Given the description of an element on the screen output the (x, y) to click on. 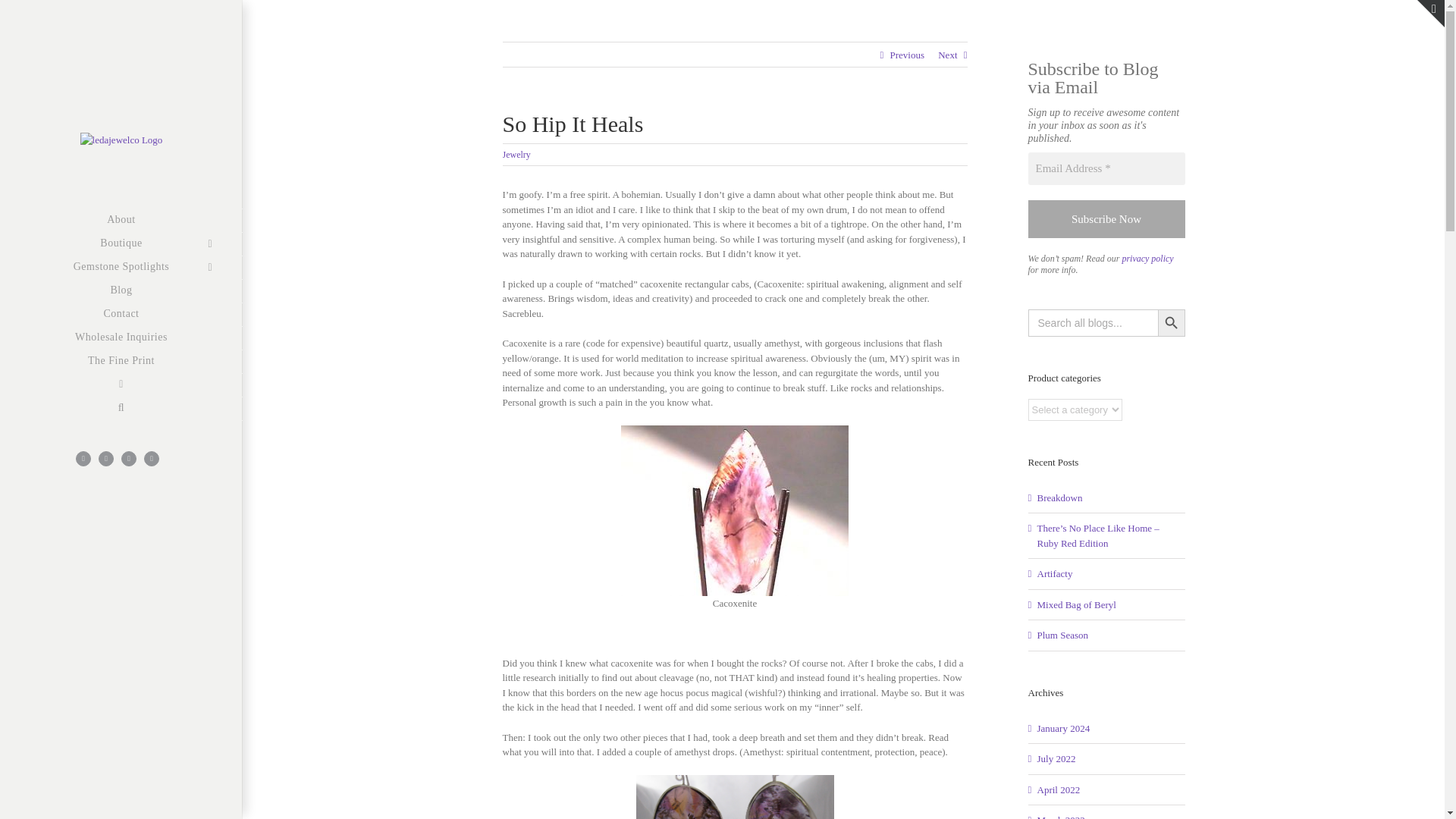
Boutique (121, 243)
The Fine Print (121, 361)
Gemstone Spotlights (121, 268)
Subscribe Now (1106, 219)
Search (121, 408)
Pinterest (106, 458)
Blog (121, 290)
About (121, 219)
Twitter (128, 458)
Cacoxenite:Amethyst earrings (733, 796)
